Given the description of an element on the screen output the (x, y) to click on. 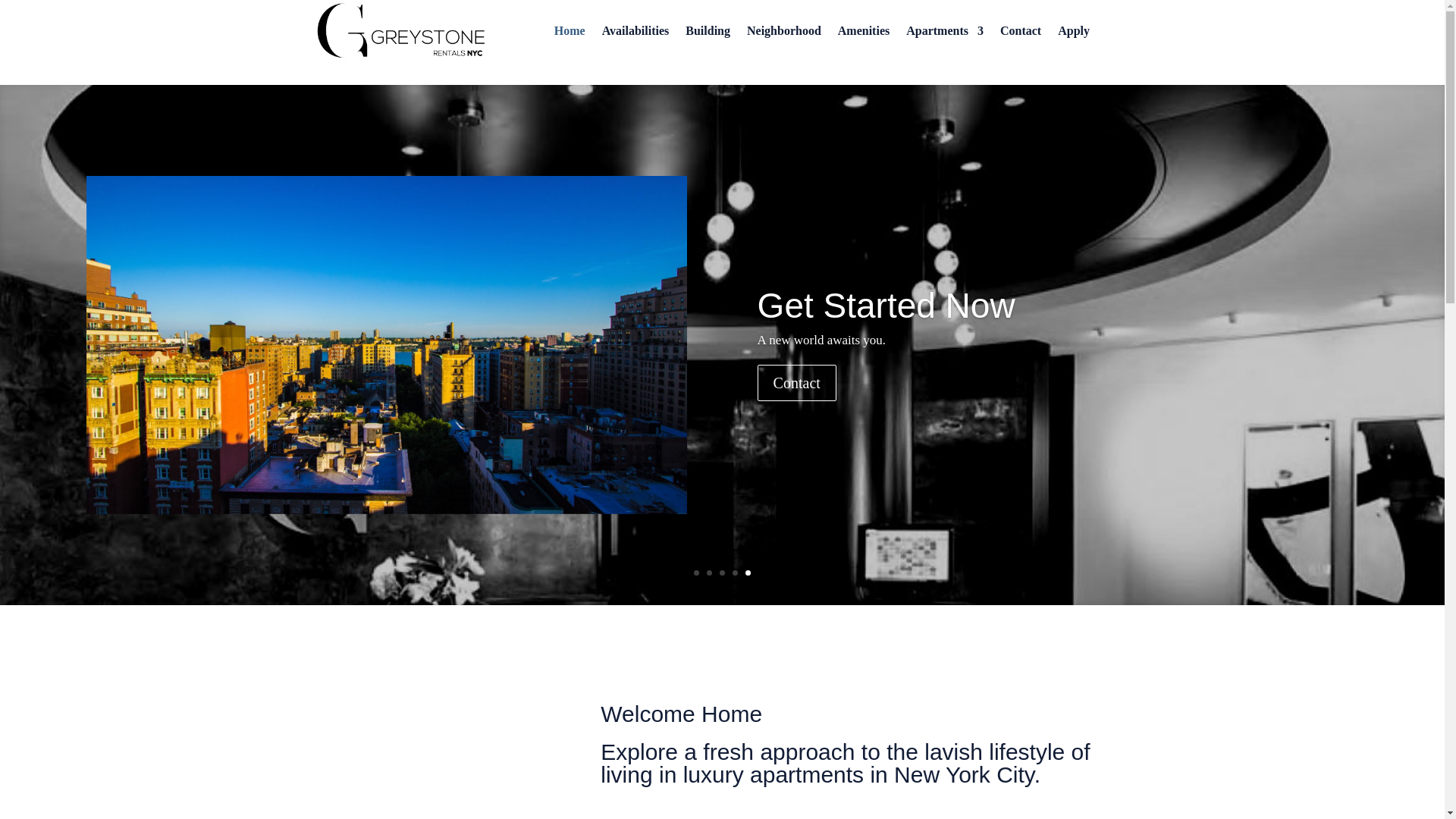
Neighborhood (783, 30)
Get Started Now (885, 335)
Apartments (944, 30)
Greystone Sizzle Reel V1 (433, 738)
Contact (796, 409)
Availabilities (635, 30)
